Given the description of an element on the screen output the (x, y) to click on. 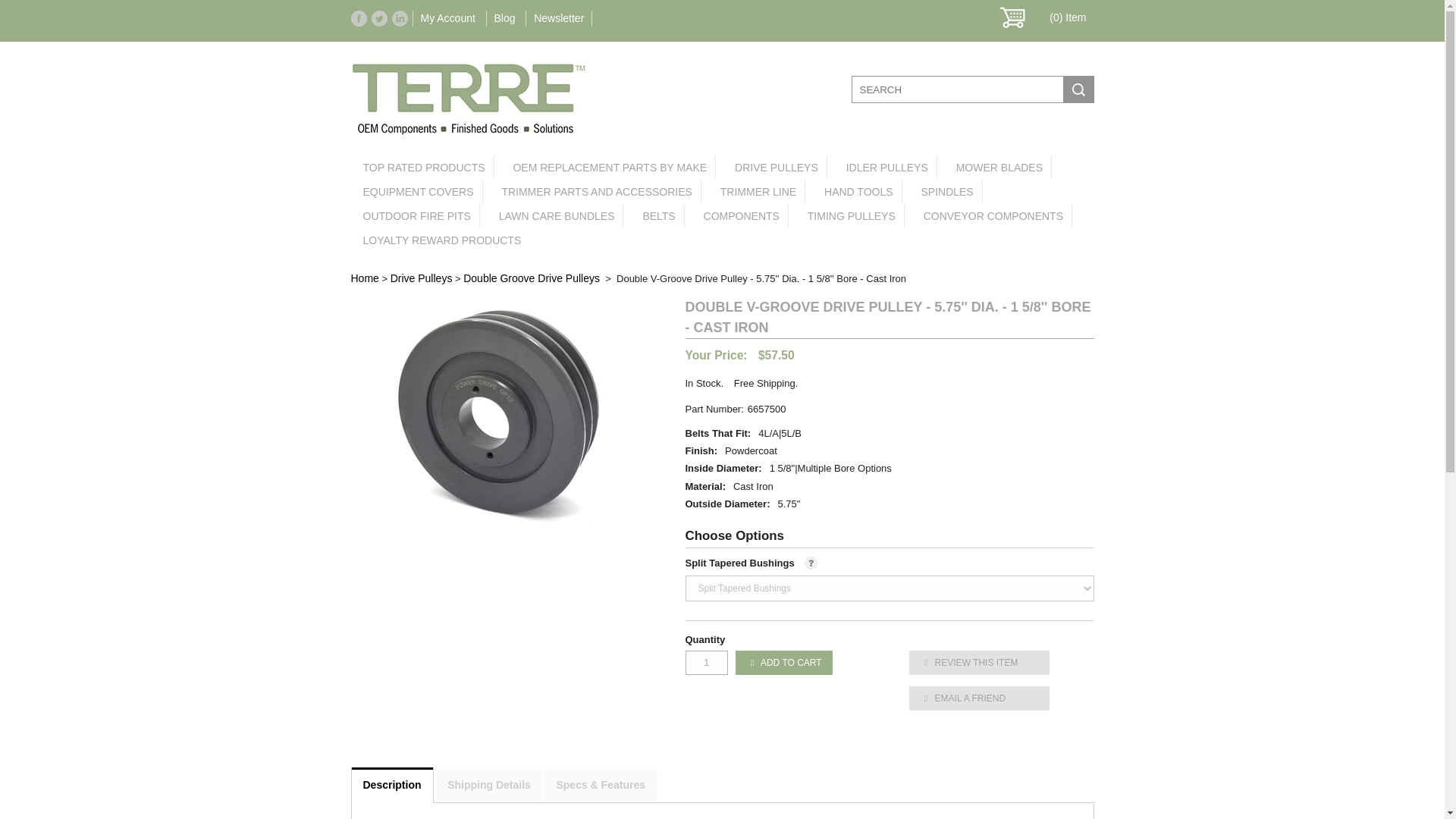
TERRE (467, 131)
1 (706, 662)
Like Us on Facebook (358, 18)
Follow Us on LinkedIn (399, 18)
Follow Us on Twitter (379, 18)
